Given the description of an element on the screen output the (x, y) to click on. 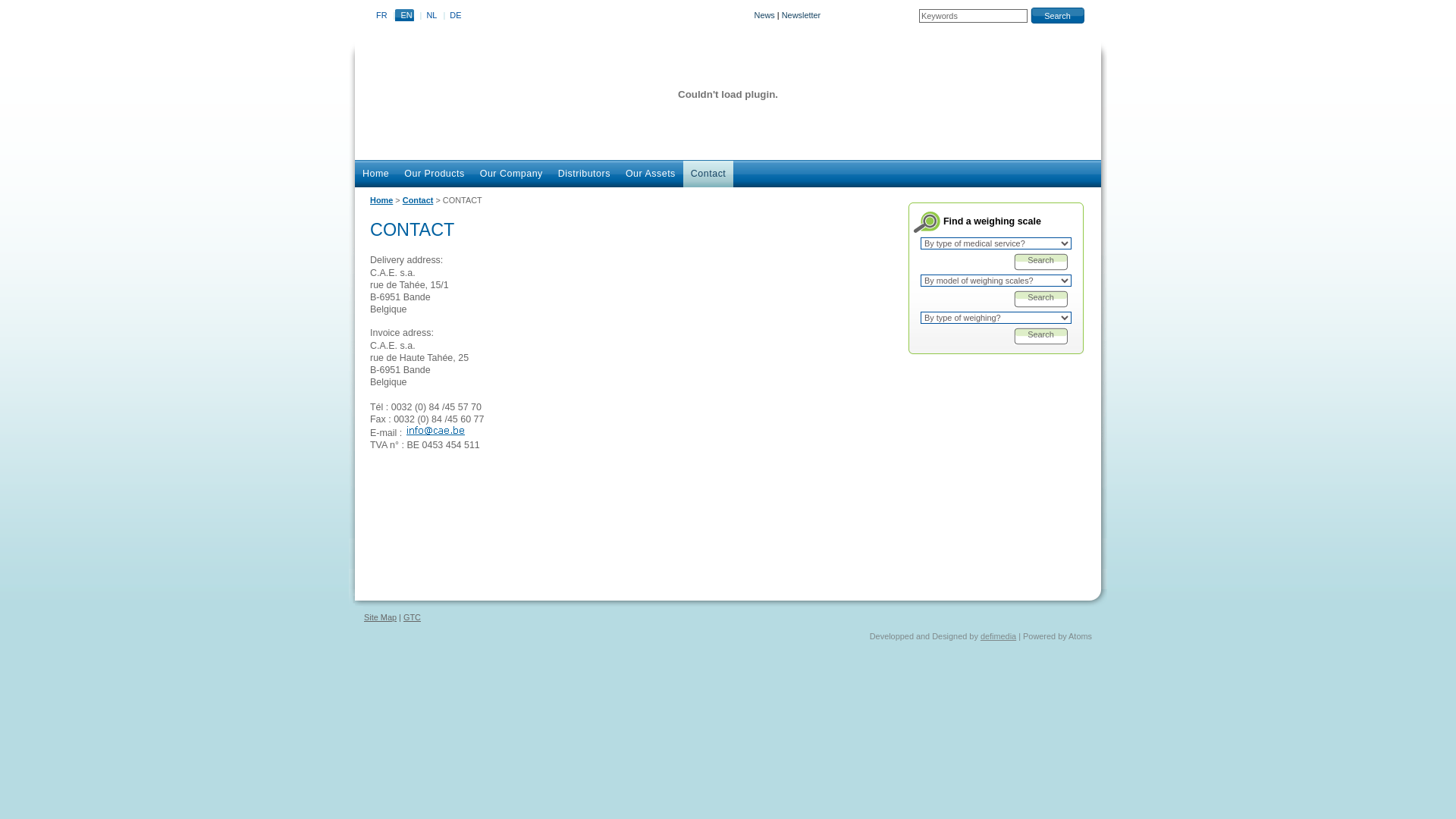
Contact Element type: text (708, 173)
Search Element type: text (1040, 261)
Distributors Element type: text (584, 173)
Site Map Element type: text (380, 616)
DE Element type: text (454, 15)
Home Element type: text (381, 199)
Home Element type: text (375, 173)
FR Element type: text (381, 15)
News Element type: text (764, 14)
defimedia Element type: text (998, 635)
Our Assets Element type: text (650, 173)
Search Element type: text (1040, 336)
GTC Element type: text (411, 616)
Search Element type: text (1040, 298)
Our Company Element type: text (511, 173)
Keywords  Element type: text (973, 15)
Newsletter Element type: text (801, 14)
Search Element type: text (1057, 15)
Our Products Element type: text (433, 173)
Contact Element type: text (417, 199)
NL Element type: text (430, 15)
EN Element type: text (406, 15)
